Given the description of an element on the screen output the (x, y) to click on. 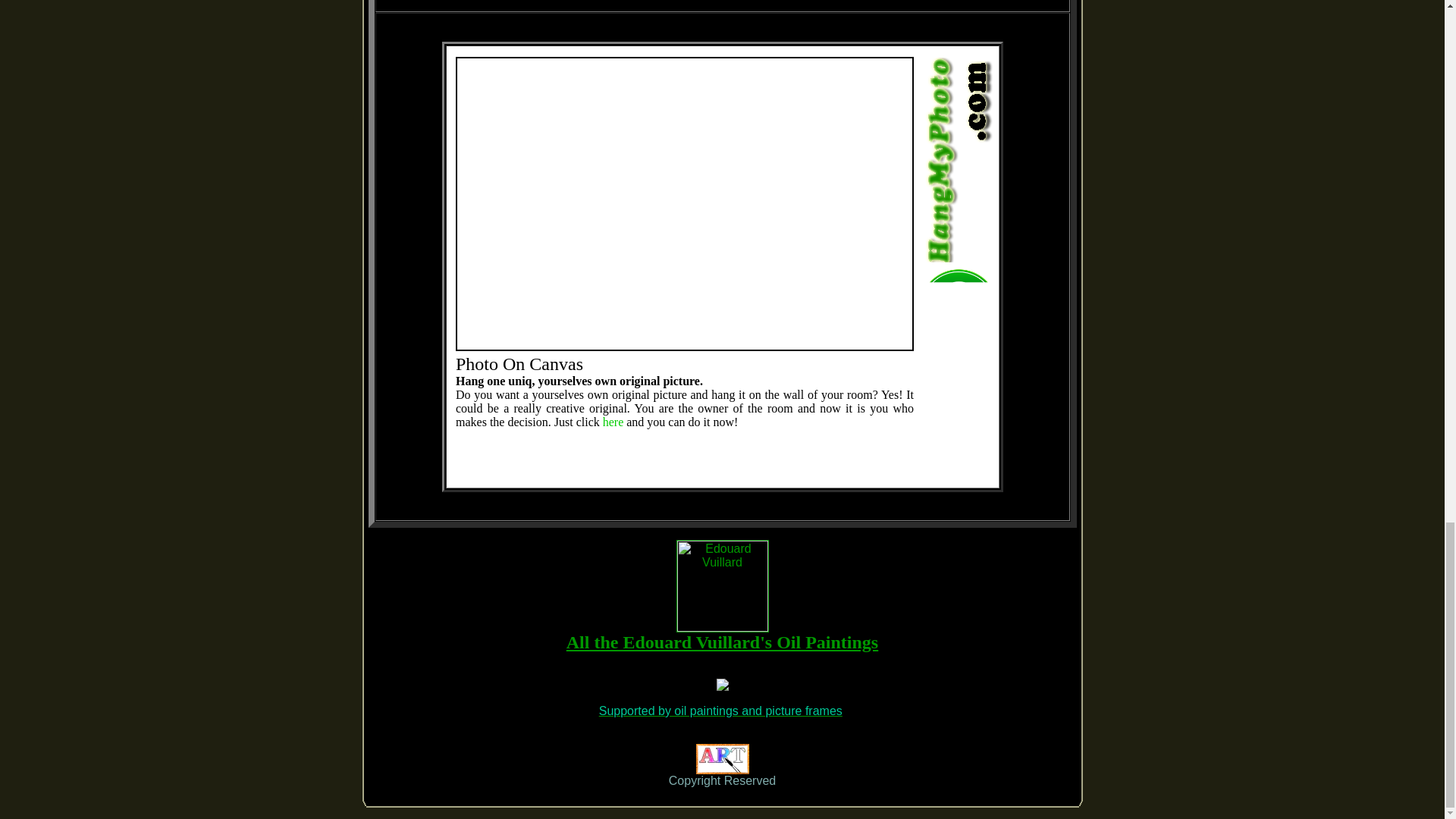
All the Edouard Vuillard's Oil Paintings (721, 641)
Supported by oil paintings and picture frames (720, 710)
